Given the description of an element on the screen output the (x, y) to click on. 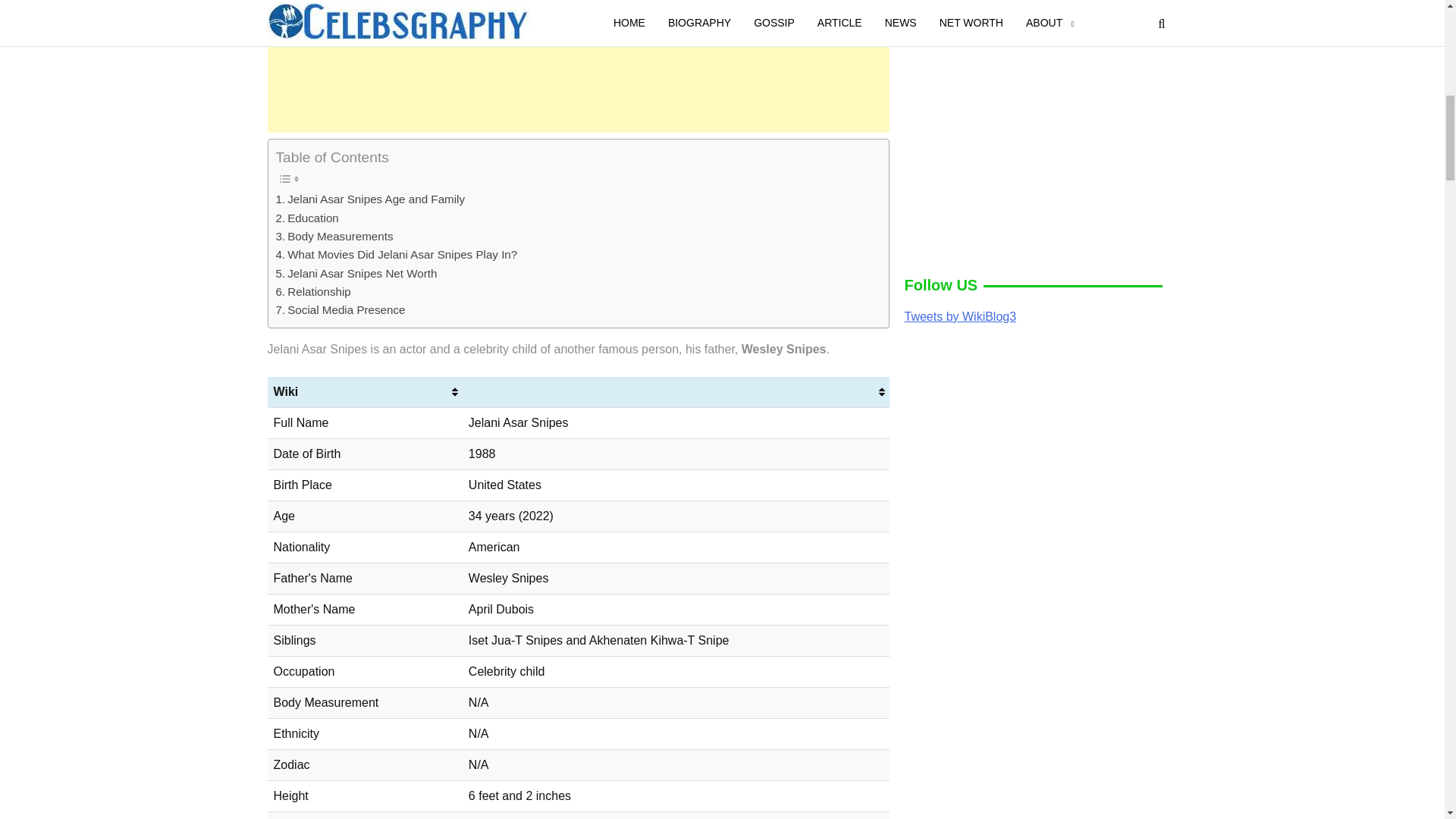
Social Media Presence (341, 310)
Jelani Asar Snipes Age and Family (370, 199)
Body Measurements (334, 236)
Relationship (313, 291)
Relationship (313, 291)
What Movies Did Jelani Asar Snipes Play In? (397, 254)
What Movies Did Jelani Asar Snipes Play In? (397, 254)
Education (307, 218)
Advertisement (577, 70)
Jelani Asar Snipes Age and Family (370, 199)
Jelani Asar Snipes Net Worth (357, 273)
Education (307, 218)
Body Measurements (334, 236)
Social Media Presence (341, 310)
Advertisement (1032, 449)
